Given the description of an element on the screen output the (x, y) to click on. 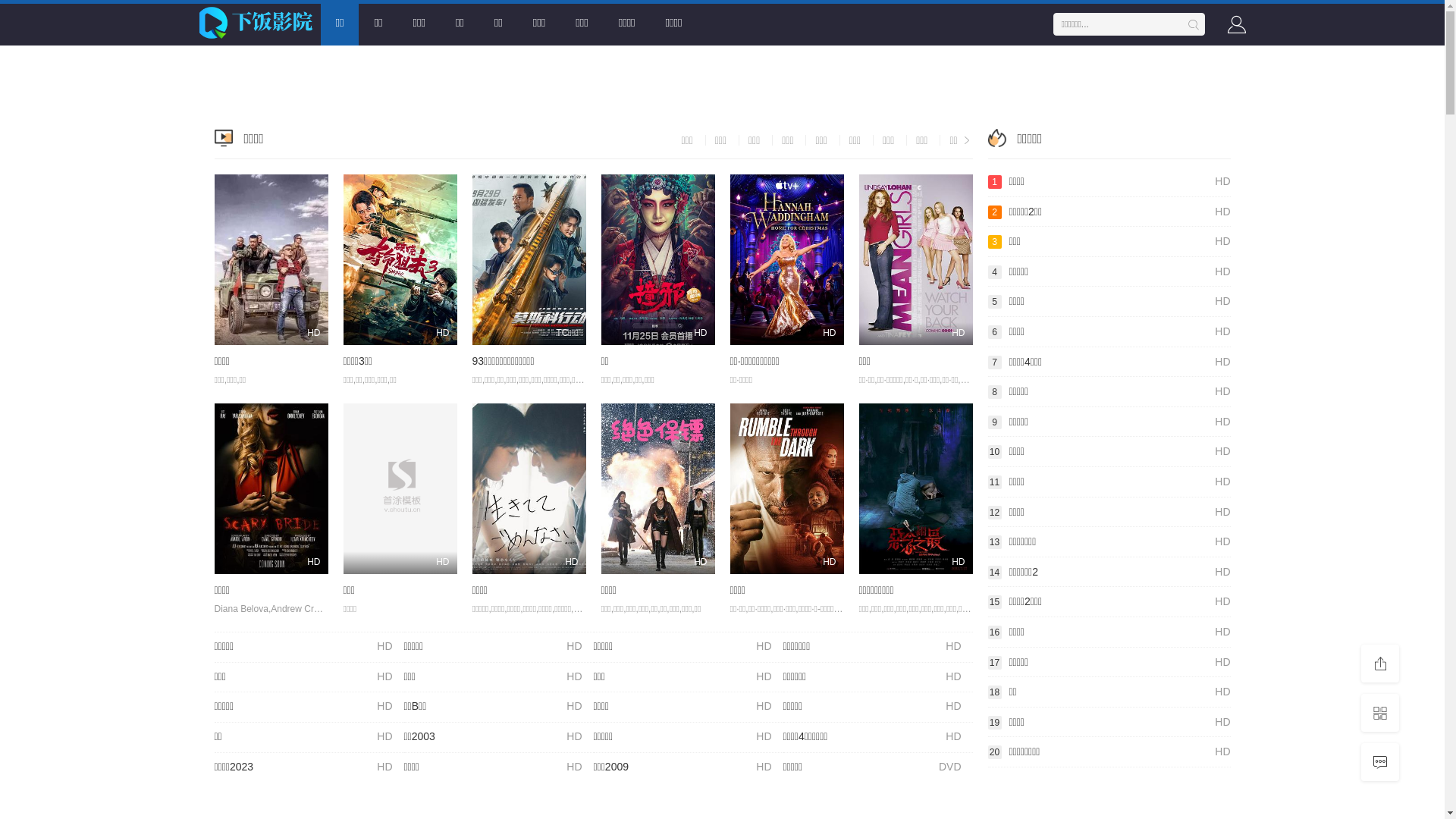
HD Element type: text (786, 488)
HD Element type: text (270, 259)
HD Element type: text (786, 259)
HD Element type: text (915, 259)
HD Element type: text (657, 488)
HD Element type: text (399, 259)
HD Element type: text (270, 488)
HD Element type: text (399, 488)
HD Element type: text (915, 488)
HD Element type: text (528, 488)
HD Element type: text (657, 259)
